Given the description of an element on the screen output the (x, y) to click on. 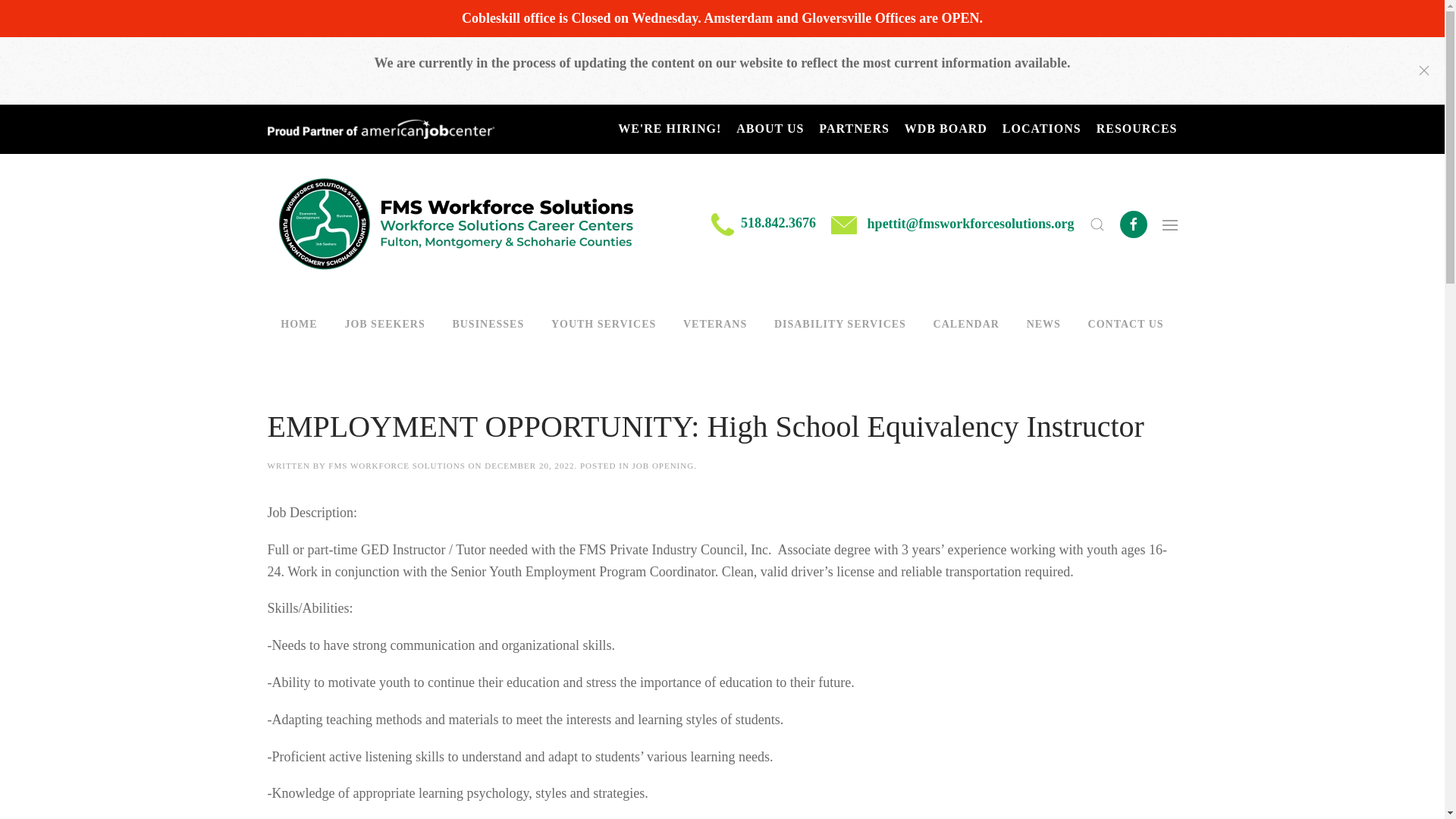
ABOUT US (769, 128)
HOME (298, 324)
PARTNERS (853, 128)
WDB BOARD (945, 128)
BUSINESSES (488, 324)
WE'RE HIRING! (668, 128)
VETERANS (714, 324)
RESOURCES (1136, 128)
DISABILITY SERVICES (840, 324)
JOB SEEKERS (385, 324)
518.842.3676 (778, 222)
YOUTH SERVICES (603, 324)
LOCATIONS (1042, 128)
